Given the description of an element on the screen output the (x, y) to click on. 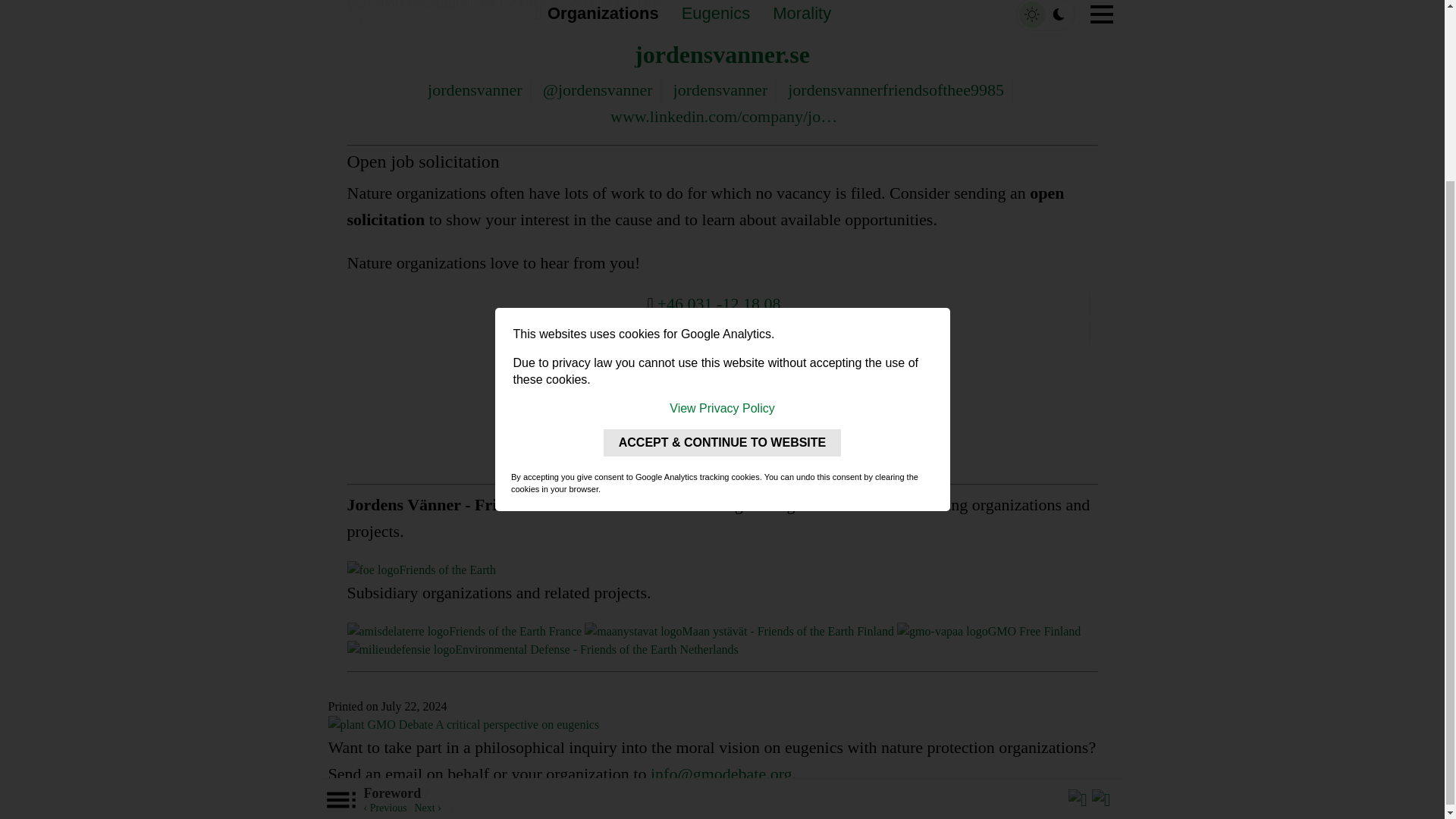
GMO Free Finland (988, 631)
Friends of the Earth (421, 569)
jordensvanner (475, 89)
Environmental Defense - Friends of the Earth Netherlands (542, 649)
View Privacy Policy (721, 184)
jordensvanner (720, 89)
jordensvanner.se (722, 54)
jordensvannerfriendsofthee9985 (895, 89)
jordensvanner (724, 358)
Friends of the Earth France (464, 631)
